Given the description of an element on the screen output the (x, y) to click on. 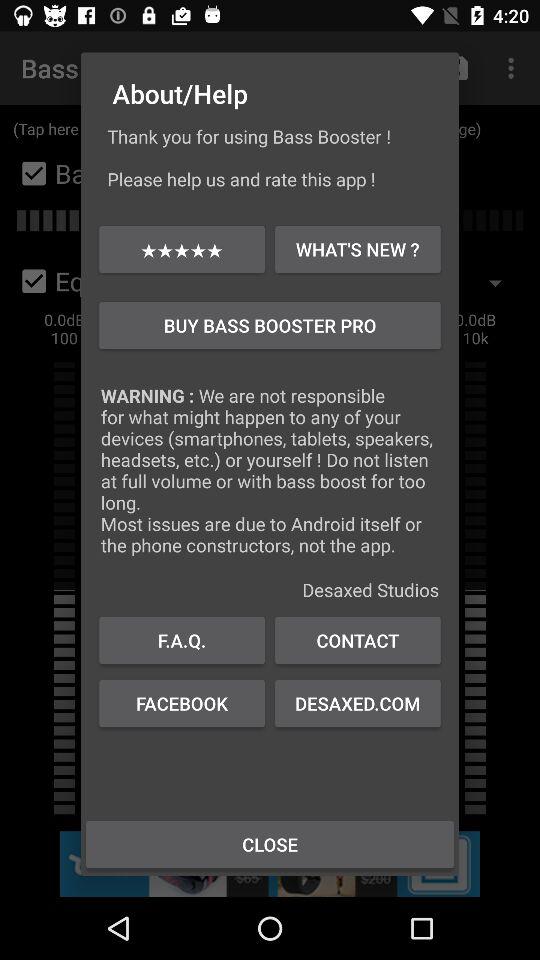
open contact item (357, 639)
